Given the description of an element on the screen output the (x, y) to click on. 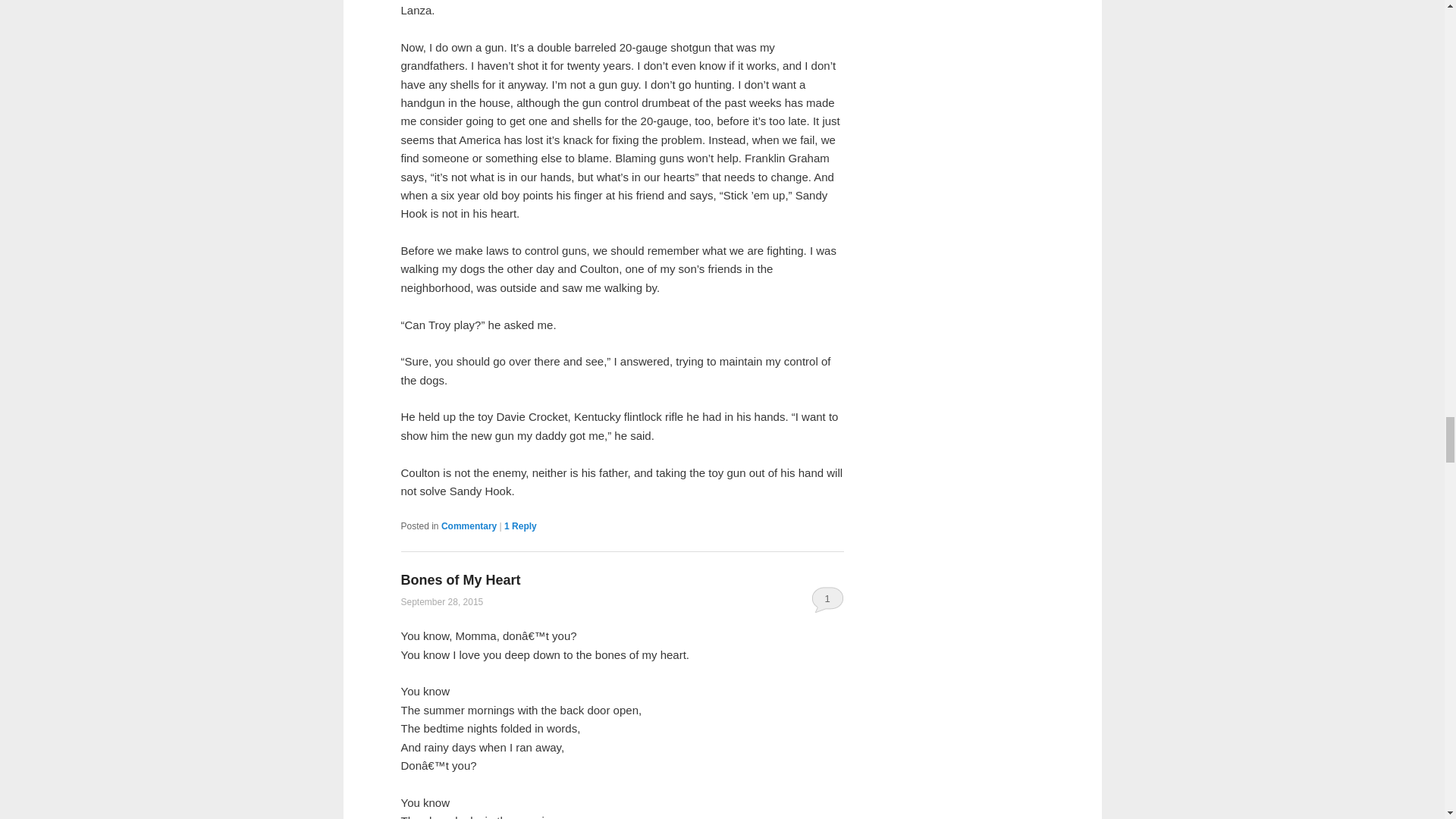
10:52 am (441, 602)
